Given the description of an element on the screen output the (x, y) to click on. 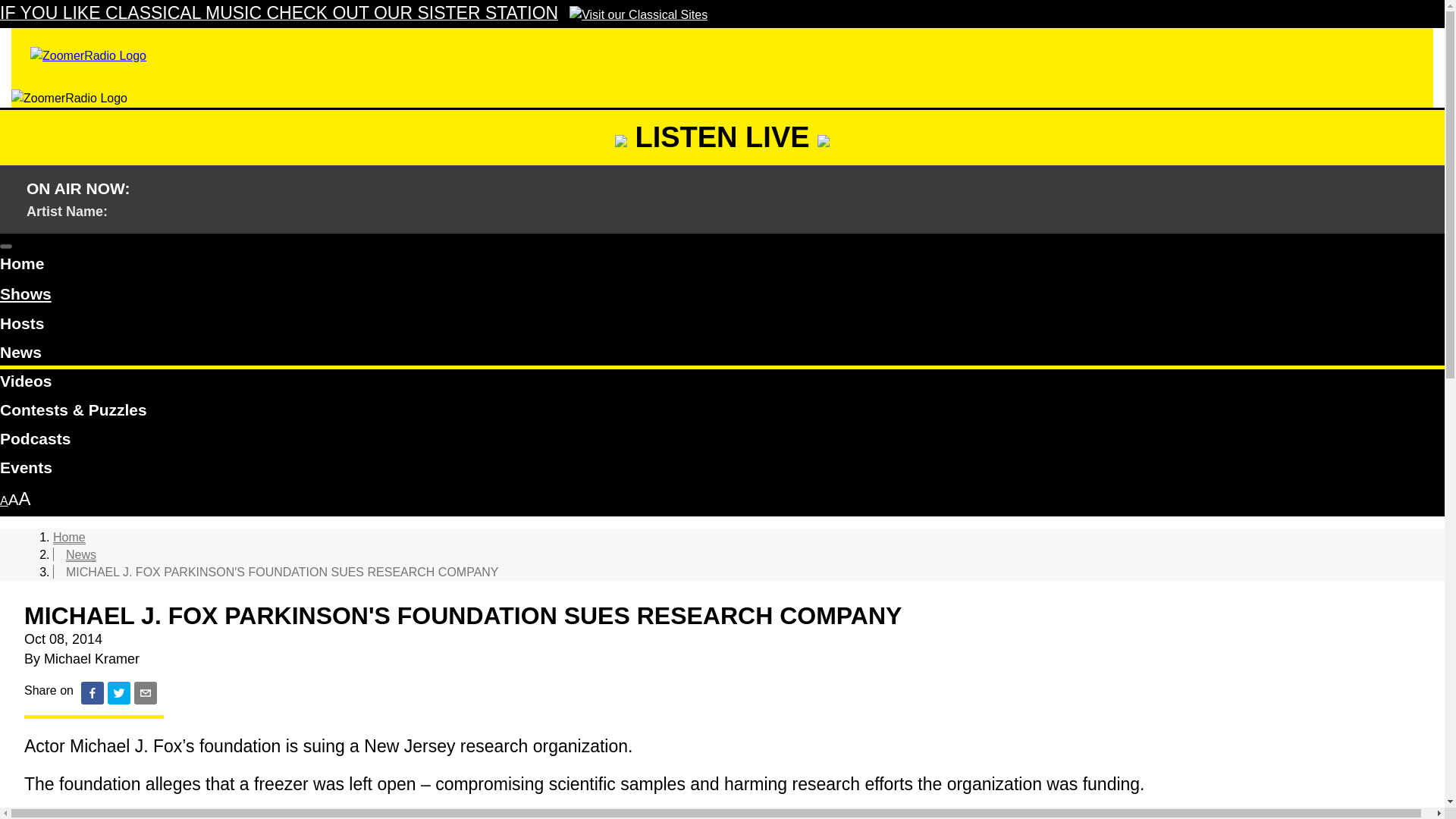
MICHAEL J. FOX PARKINSON'S FOUNDATION SUES RESEARCH COMPANY (282, 571)
News (722, 354)
Podcasts (722, 440)
Hosts (722, 326)
Events (722, 469)
Shows (25, 294)
Videos (722, 383)
LISTEN LIVE (722, 136)
Home (68, 537)
IF YOU LIKE CLASSICAL MUSIC CHECK OUT OUR SISTER STATION (353, 14)
